Given the description of an element on the screen output the (x, y) to click on. 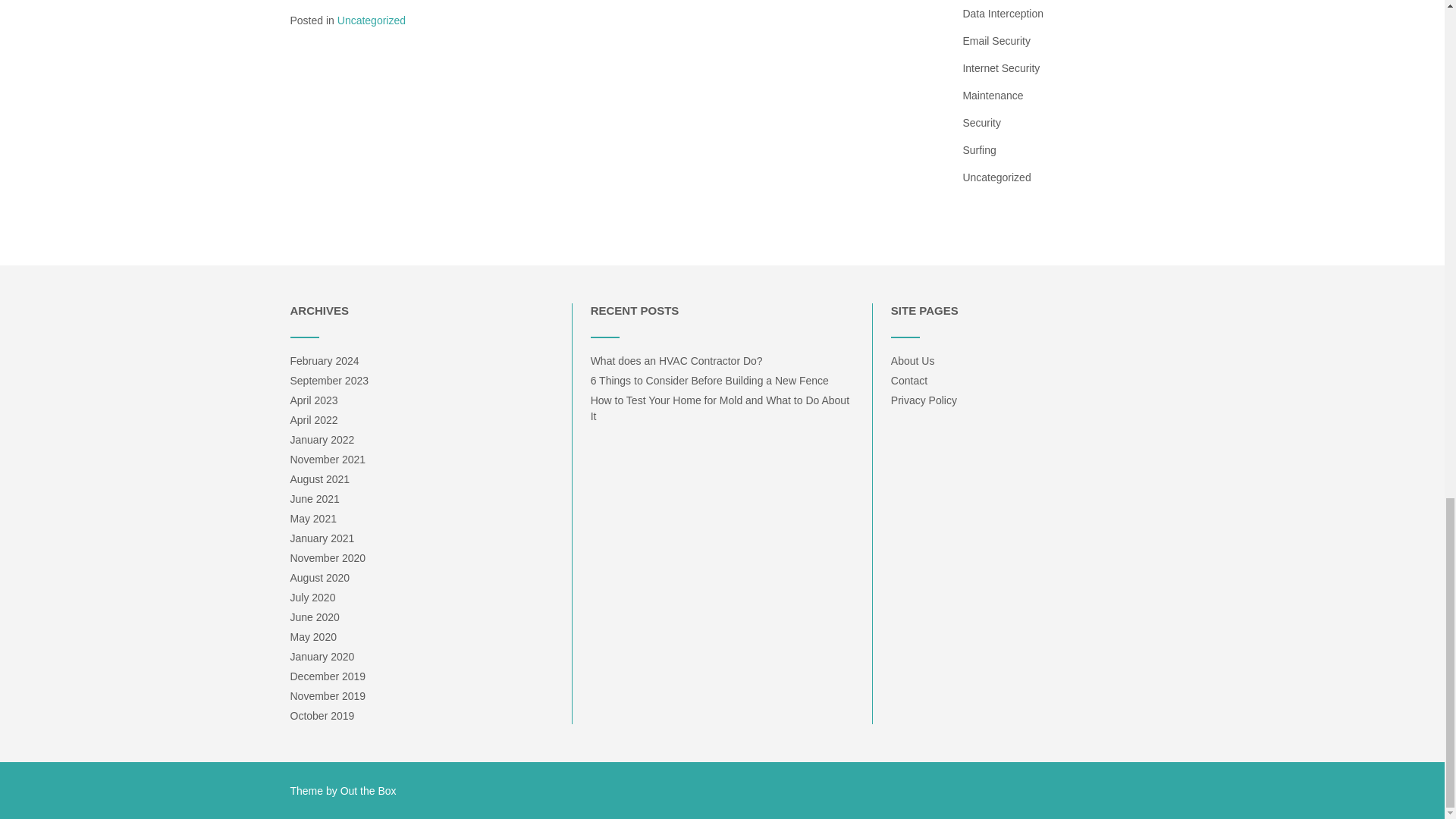
November 2021 (327, 459)
Internet Security (1000, 68)
April 2023 (313, 399)
November 2020 (327, 558)
Surfing (978, 150)
January 2022 (321, 439)
Maintenance (992, 95)
Email Security (995, 40)
Security (981, 122)
August 2021 (319, 479)
